Given the description of an element on the screen output the (x, y) to click on. 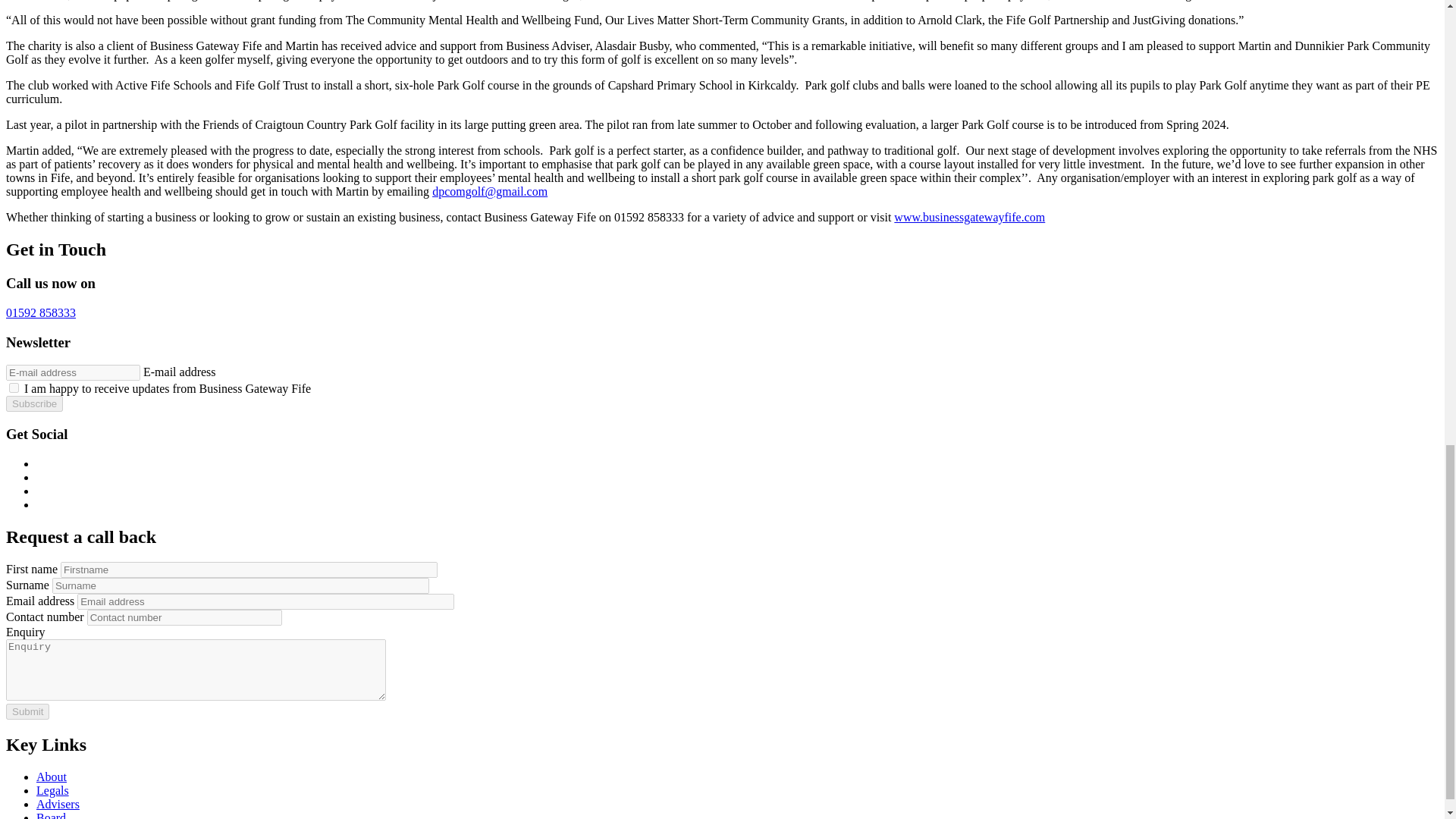
1 (13, 388)
